Given the description of an element on the screen output the (x, y) to click on. 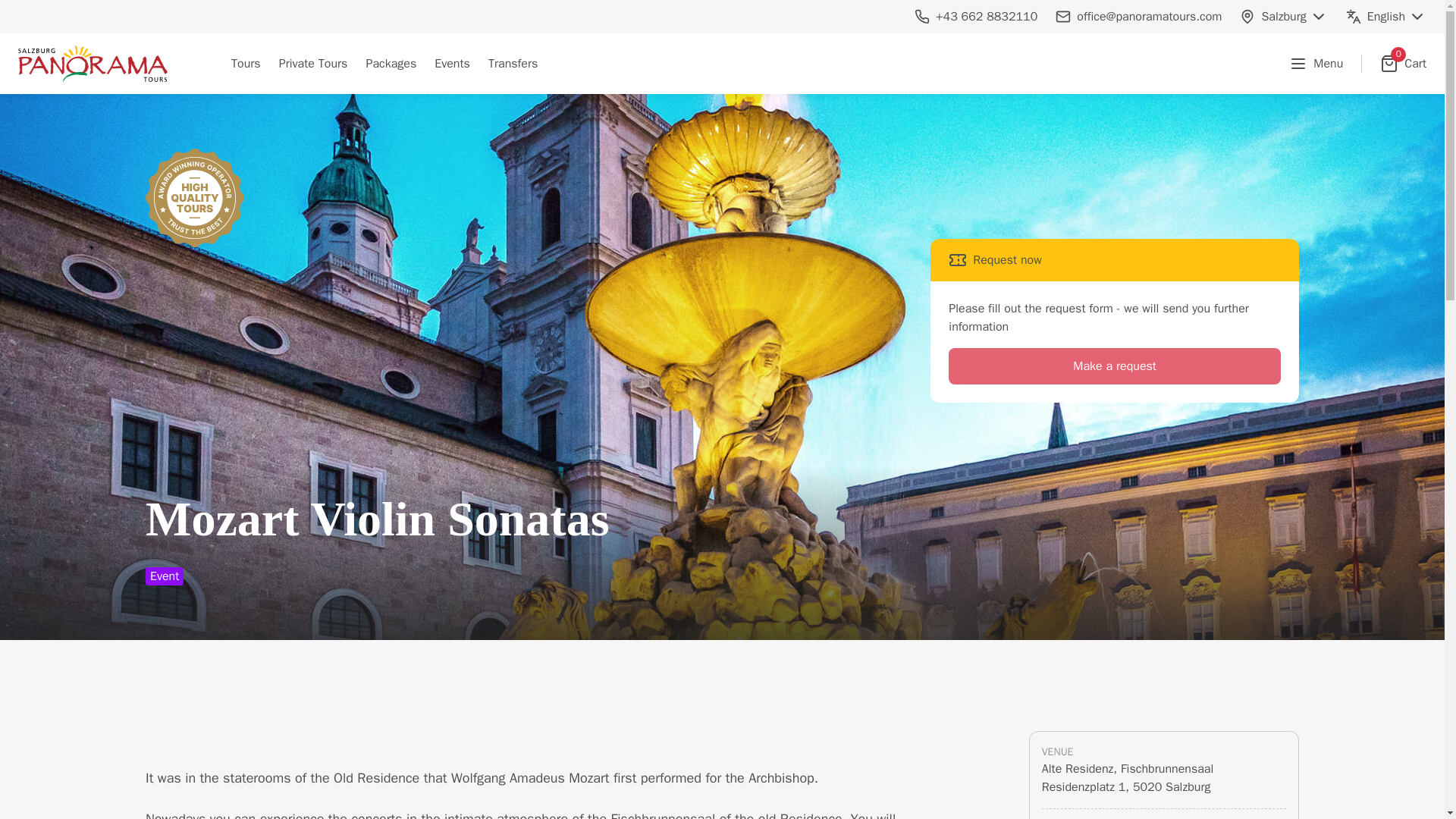
Transfers (513, 63)
Events (452, 63)
Packages (390, 63)
Make a request (1115, 366)
Private Tours (312, 63)
English (1385, 16)
Salzburg (1283, 16)
Tours (1403, 63)
Menu (245, 63)
